Given the description of an element on the screen output the (x, y) to click on. 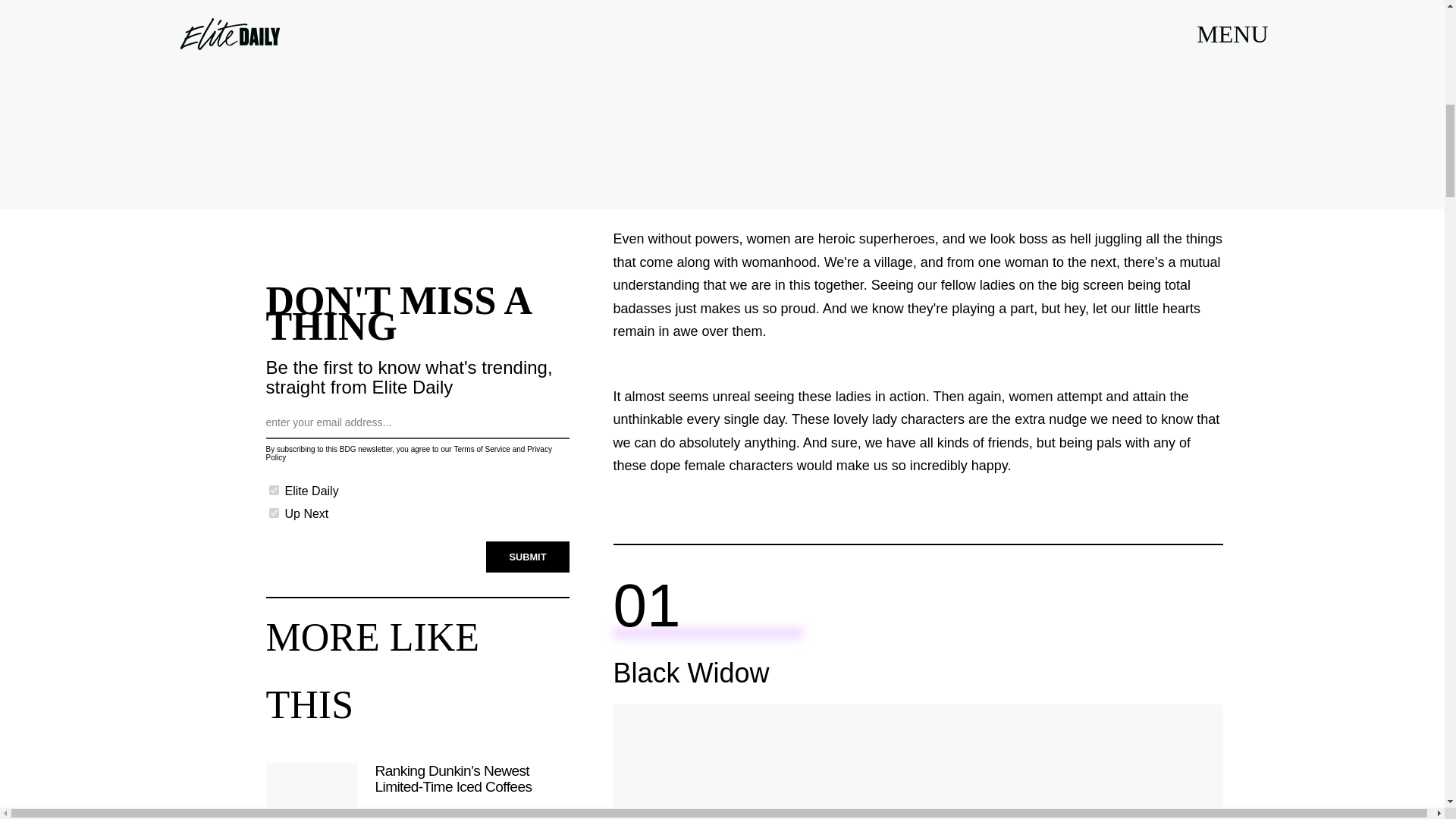
Terms of Service (480, 449)
Privacy Policy (407, 453)
SUBMIT (527, 557)
